Given the description of an element on the screen output the (x, y) to click on. 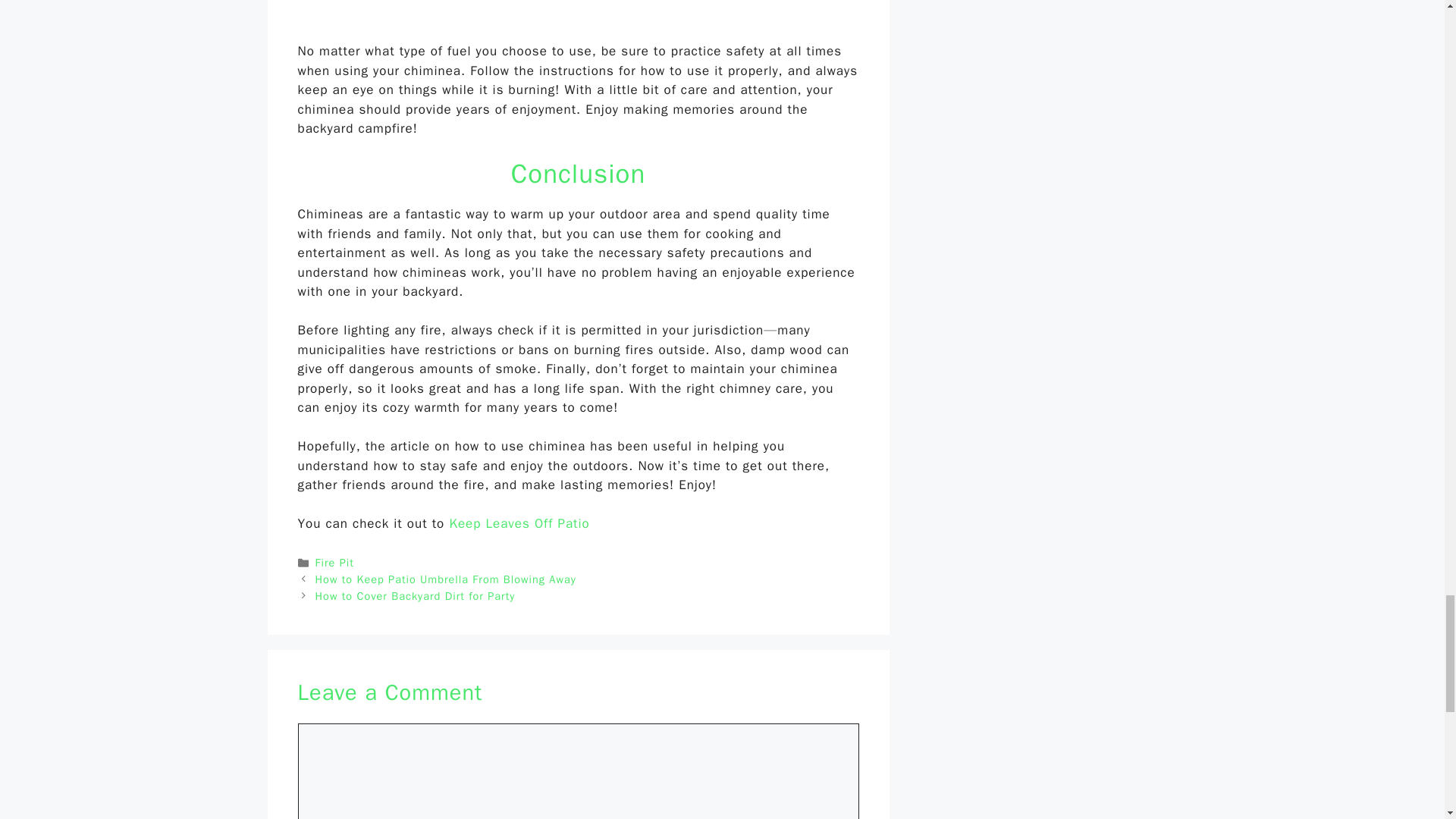
How to Cover Backyard Dirt for Party (415, 595)
Fire Pit (334, 562)
Keep Leaves Off Patio (518, 523)
How to Keep Patio Umbrella From Blowing Away (445, 579)
